Given the description of an element on the screen output the (x, y) to click on. 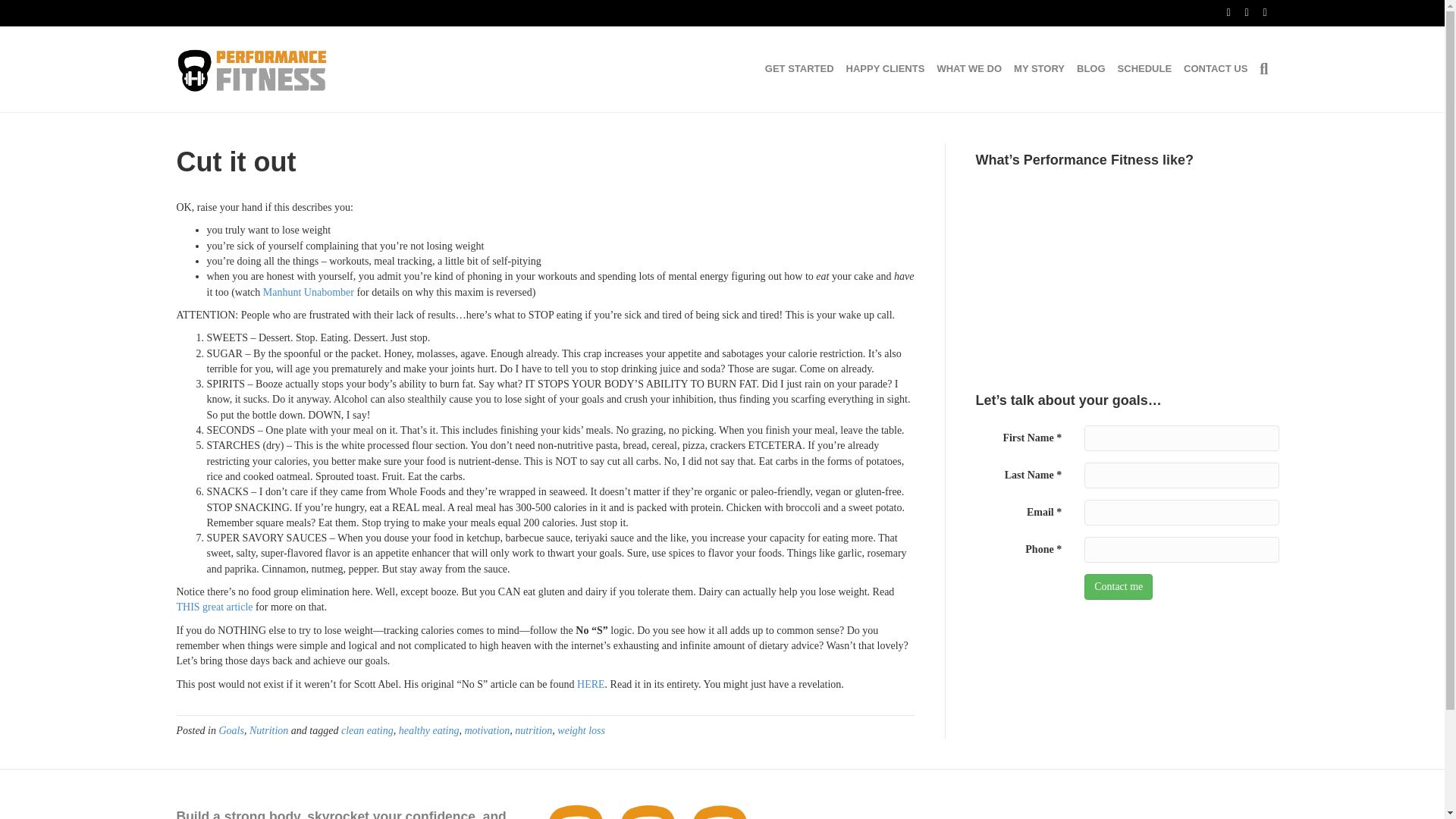
CONTACT US (1215, 68)
Instagram (1256, 11)
weight loss (581, 730)
Nutrition (268, 730)
motivation (486, 730)
HAPPY CLIENTS (885, 68)
MY STORY (1038, 68)
BLOG (1091, 68)
WHAT WE DO (968, 68)
Facebook (1220, 11)
Goals (230, 730)
GET STARTED (799, 68)
THIS great article (213, 606)
Youtube (1238, 11)
Contact me (1118, 586)
